Given the description of an element on the screen output the (x, y) to click on. 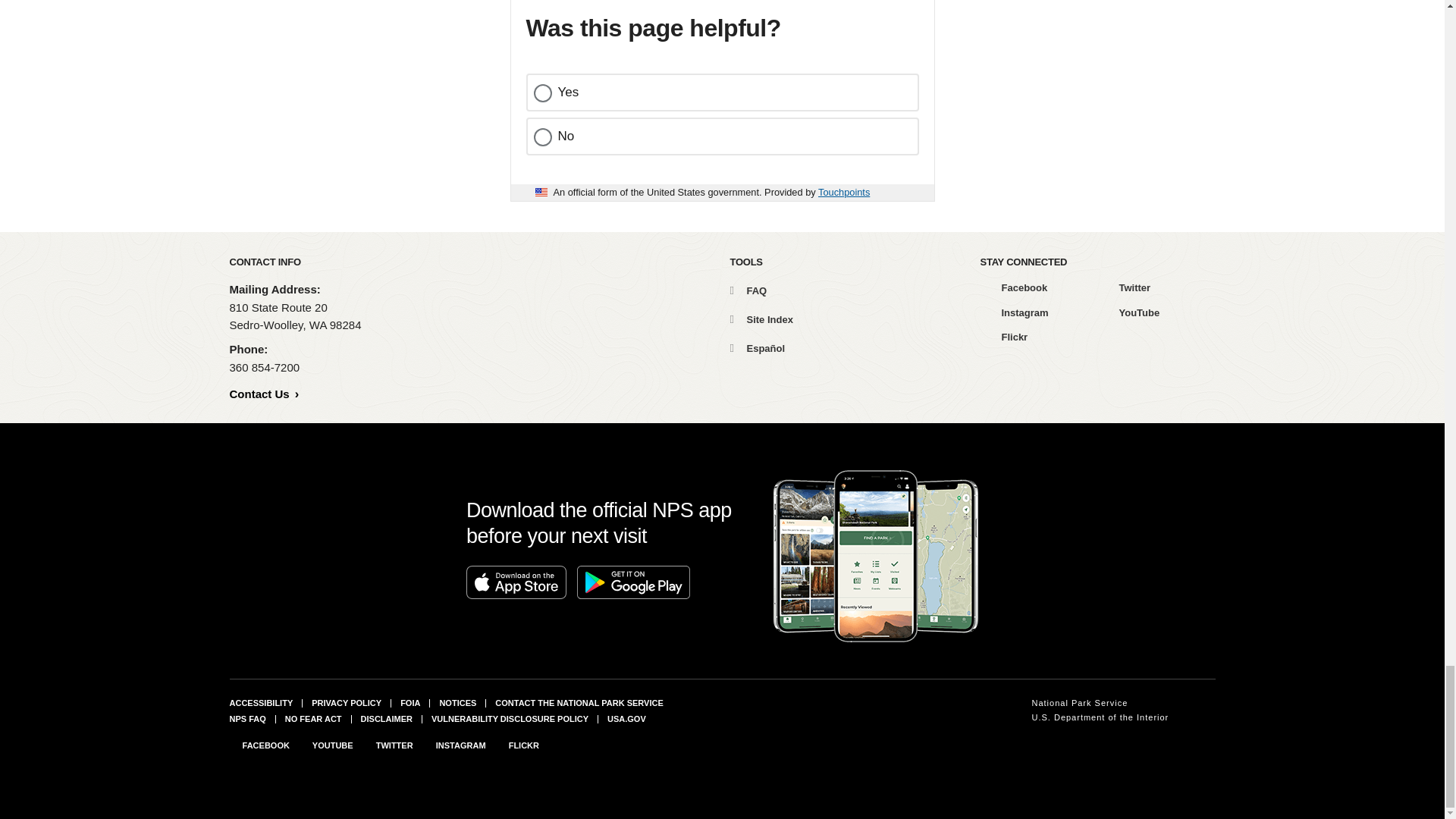
National Park Service frequently asked questions (246, 718)
